Given the description of an element on the screen output the (x, y) to click on. 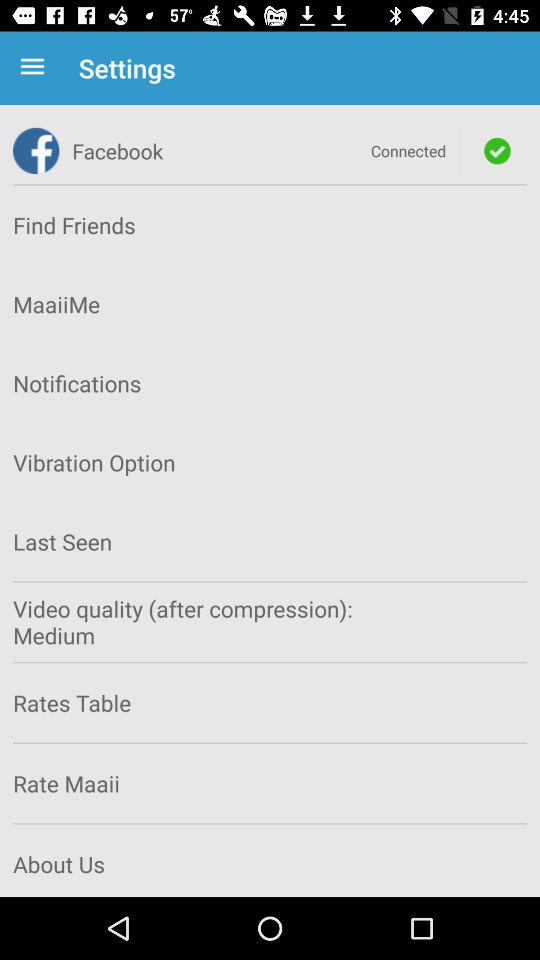
choose app to the left of the settings app (36, 68)
